Given the description of an element on the screen output the (x, y) to click on. 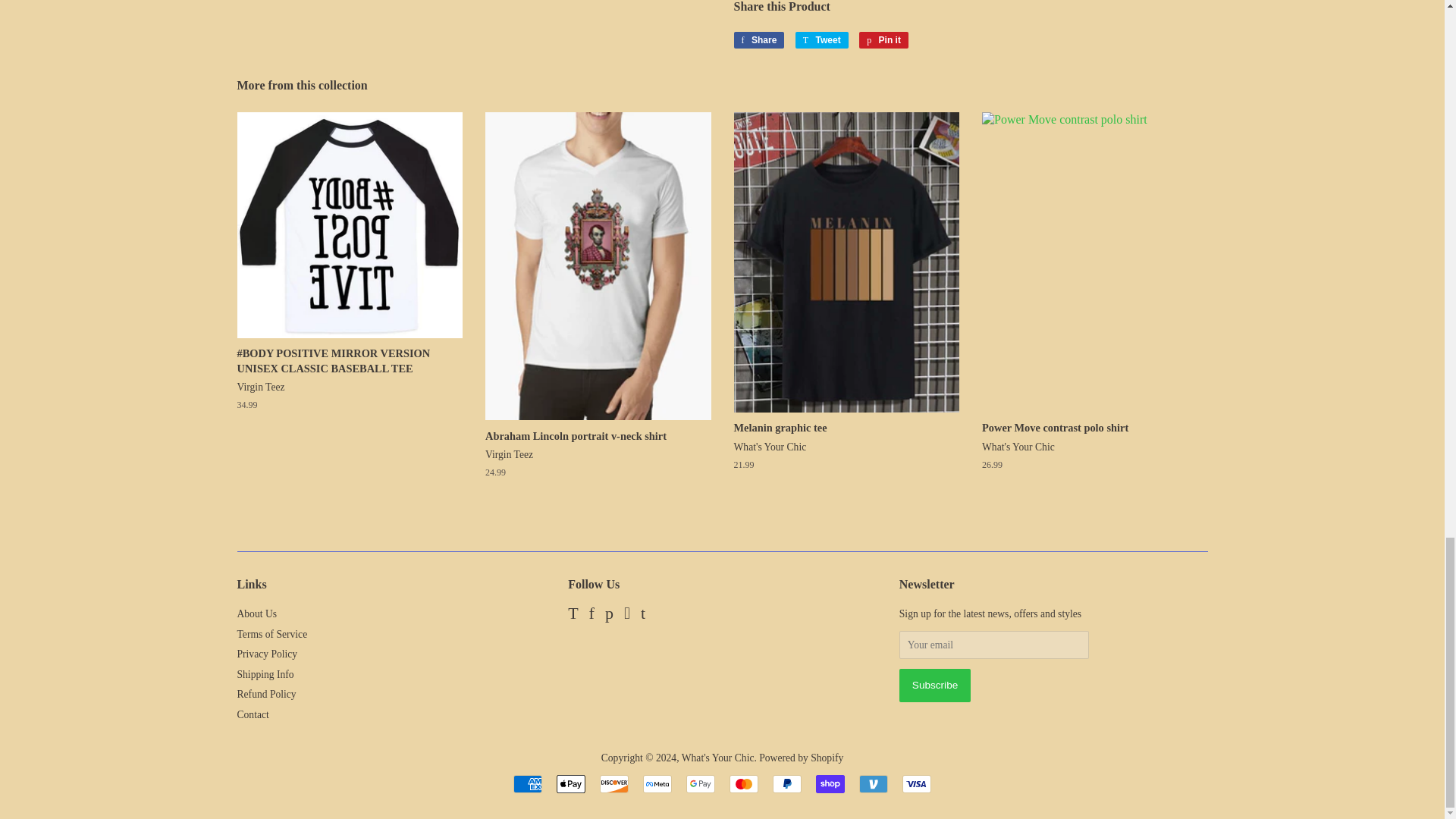
Apple Pay (570, 783)
About Us (255, 613)
Discover (613, 783)
Refund Policy (265, 694)
Pin on Pinterest (883, 39)
Meta Pay (657, 783)
Visa (916, 783)
Venmo (873, 783)
Mastercard (743, 783)
Shipping Info (883, 39)
Terms of Service (264, 674)
Tweet on Twitter (271, 633)
Google Pay (821, 39)
Privacy Policy (699, 783)
